Given the description of an element on the screen output the (x, y) to click on. 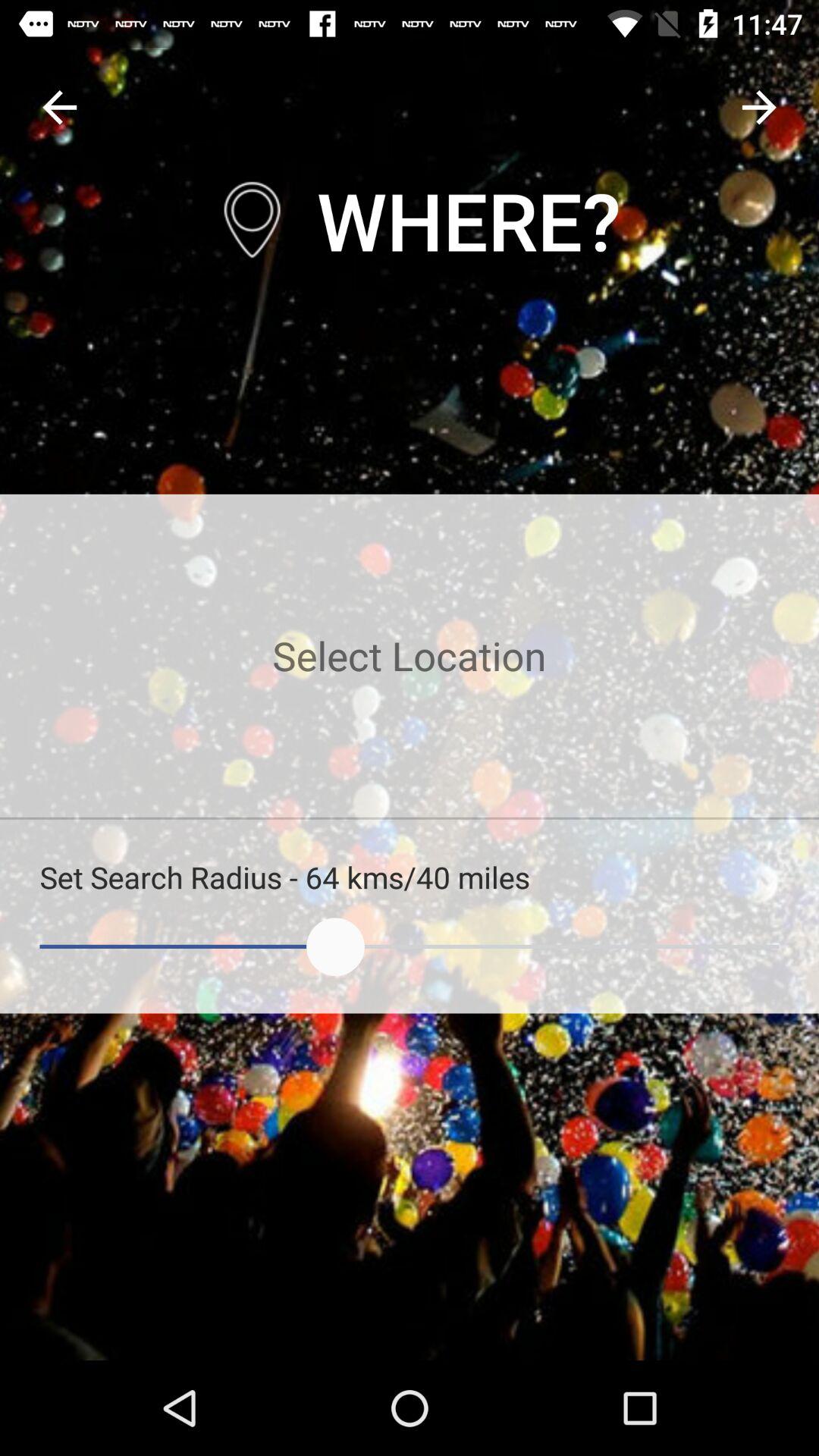
select places nearby (409, 655)
